Given the description of an element on the screen output the (x, y) to click on. 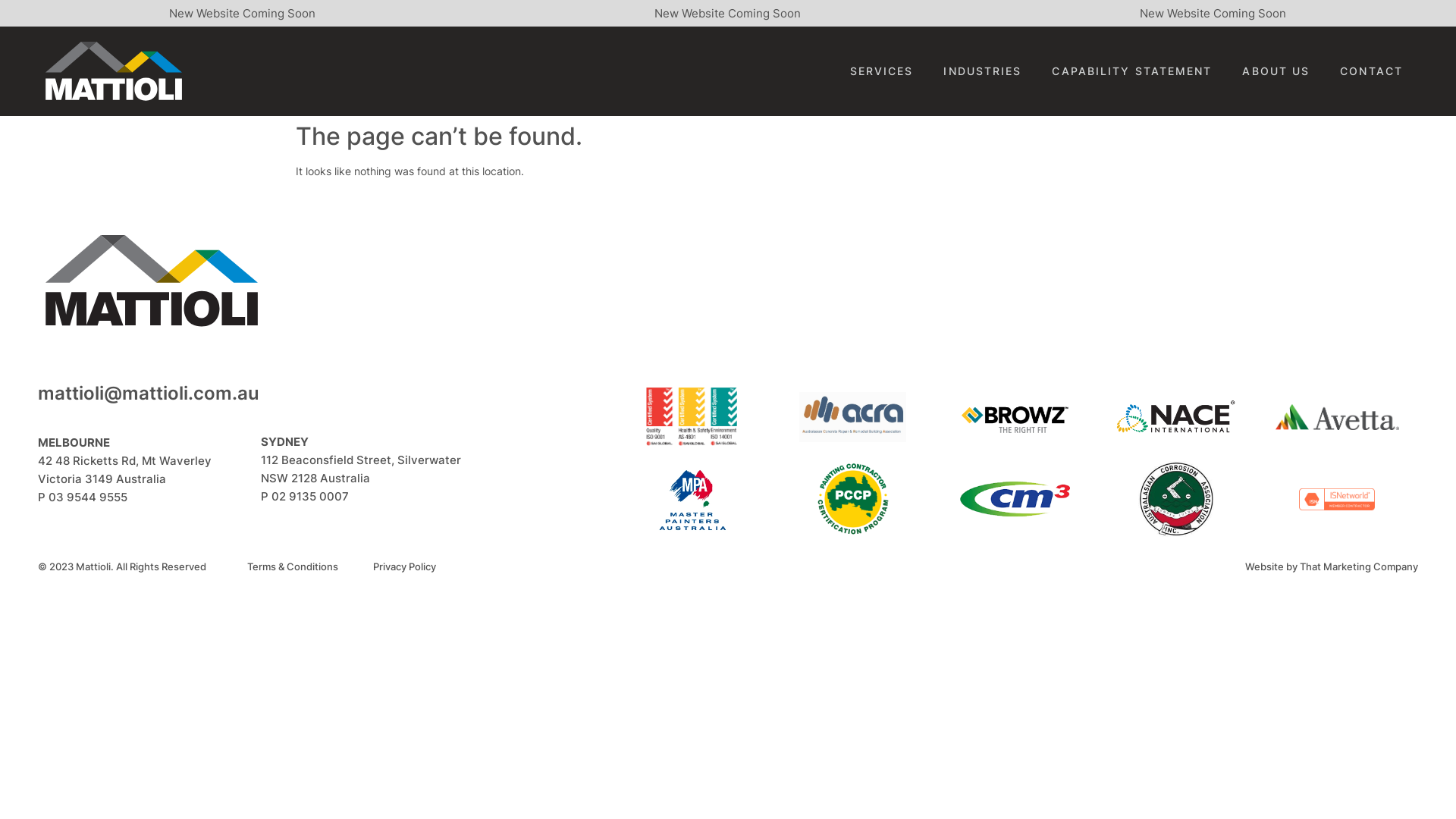
42 48 Ricketts Rd, Mt Waverley Element type: text (124, 460)
CAPABILITY STATEMENT Element type: text (1131, 70)
That Marketing Company Element type: text (1358, 566)
NSW 2128 Australia Element type: text (315, 477)
CONTACT Element type: text (1371, 70)
mattioli@mattioli.com.au Element type: text (148, 393)
Terms & Conditions Element type: text (292, 566)
SERVICES Element type: text (881, 70)
Victoria 3149 Australia Element type: text (101, 478)
INDUSTRIES Element type: text (982, 70)
02 9135 0007 Element type: text (309, 496)
Privacy Policy Element type: text (404, 566)
ABOUT US Element type: text (1275, 70)
03 9544 9555 Element type: text (87, 496)
112 Beaconsfield Street, Silverwater Element type: text (360, 459)
